Given the description of an element on the screen output the (x, y) to click on. 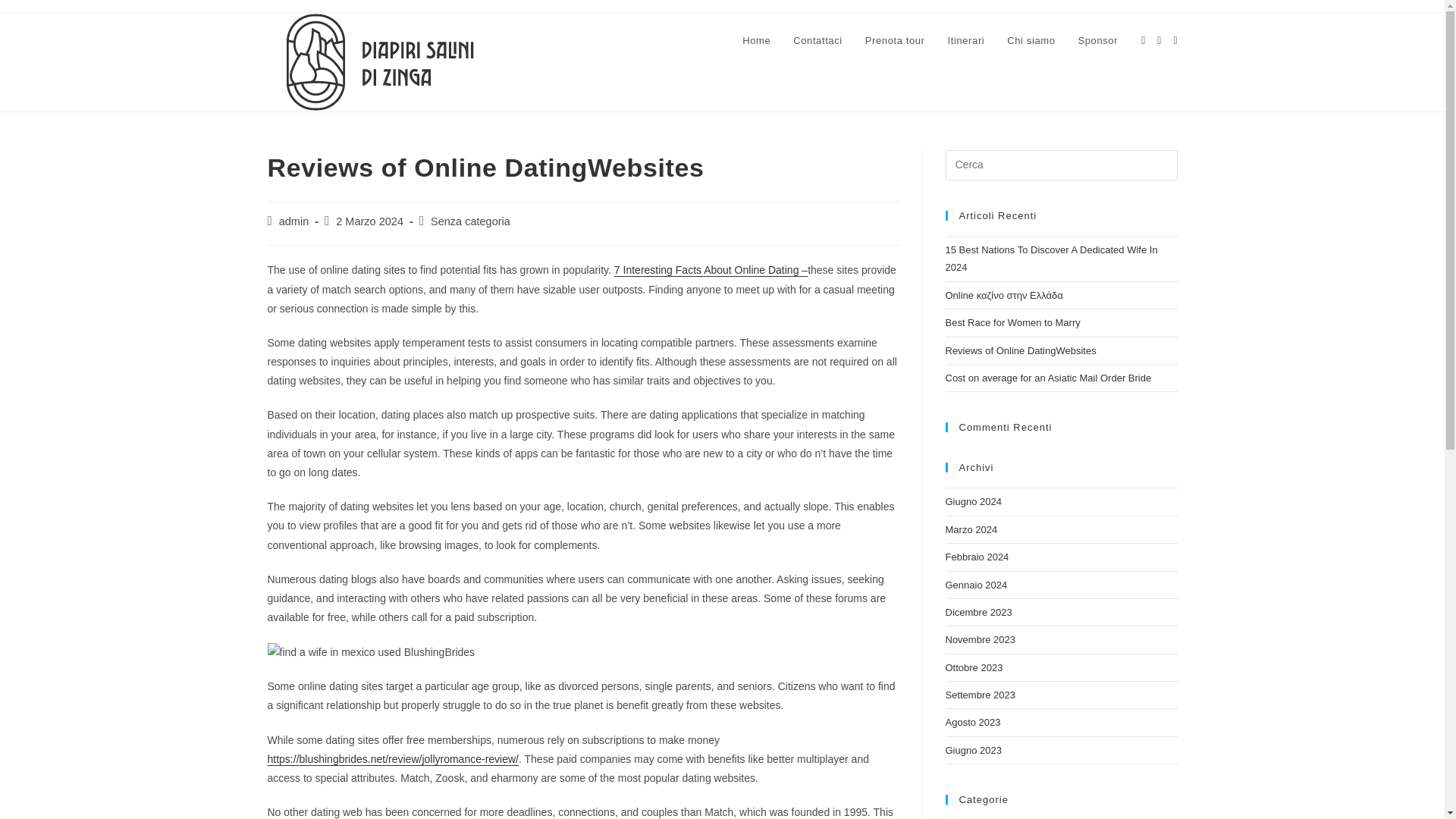
Reviews of Online DatingWebsites (1020, 350)
Best Race for Women to Marry (1012, 322)
Cost on average for an Asiatic Mail Order Bride (1047, 378)
Home (755, 40)
Giugno 2024 (972, 501)
admin (293, 221)
15 Best Nations To Discover A Dedicated Wife In 2024 (1050, 258)
Prenota tour (894, 40)
Novembre 2023 (979, 639)
Sponsor (1097, 40)
Gennaio 2024 (975, 584)
Contattaci (817, 40)
Marzo 2024 (970, 529)
Itinerari (965, 40)
Febbraio 2024 (976, 556)
